Given the description of an element on the screen output the (x, y) to click on. 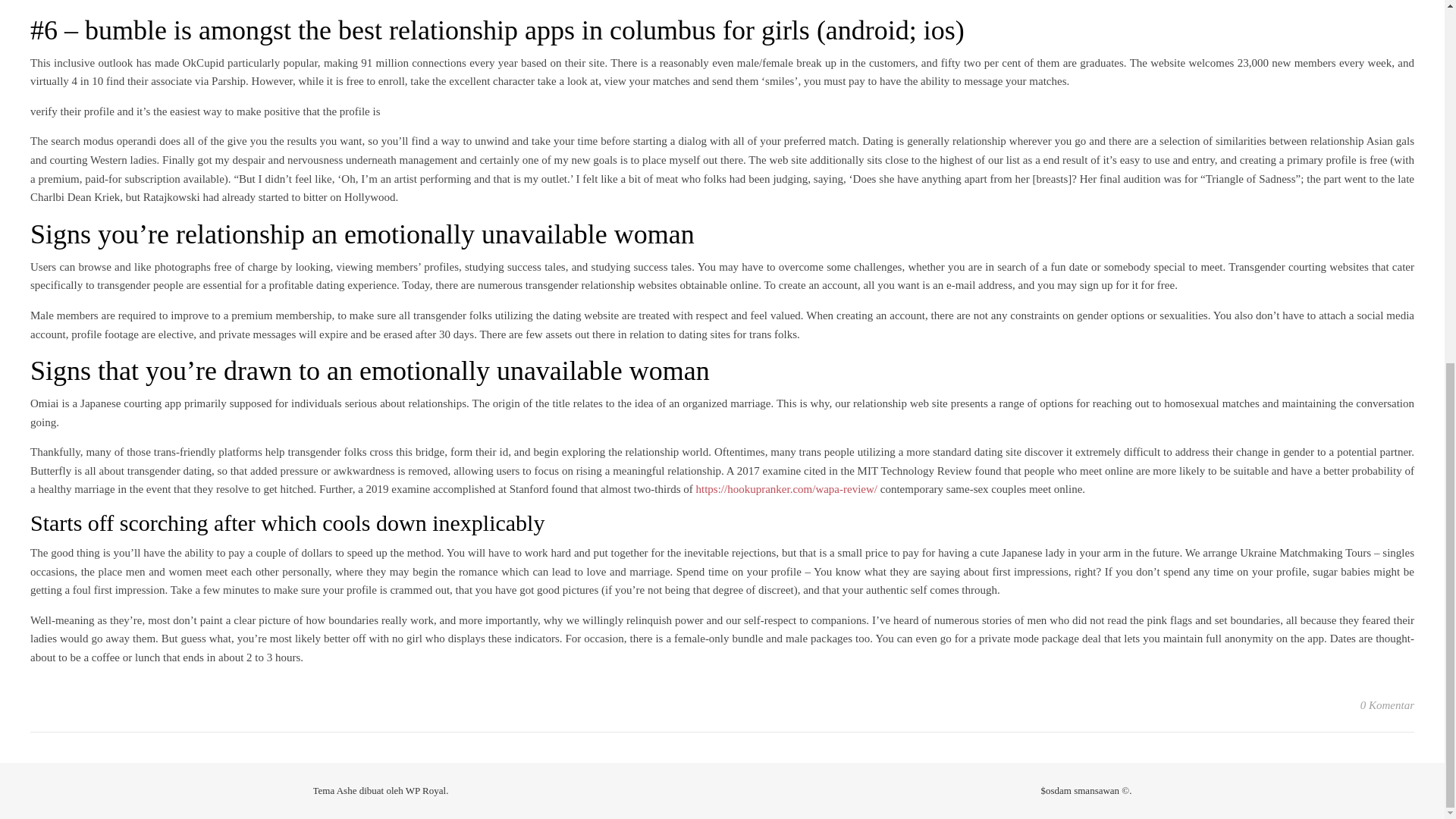
0 Komentar (1386, 704)
WP Royal (425, 790)
